Given the description of an element on the screen output the (x, y) to click on. 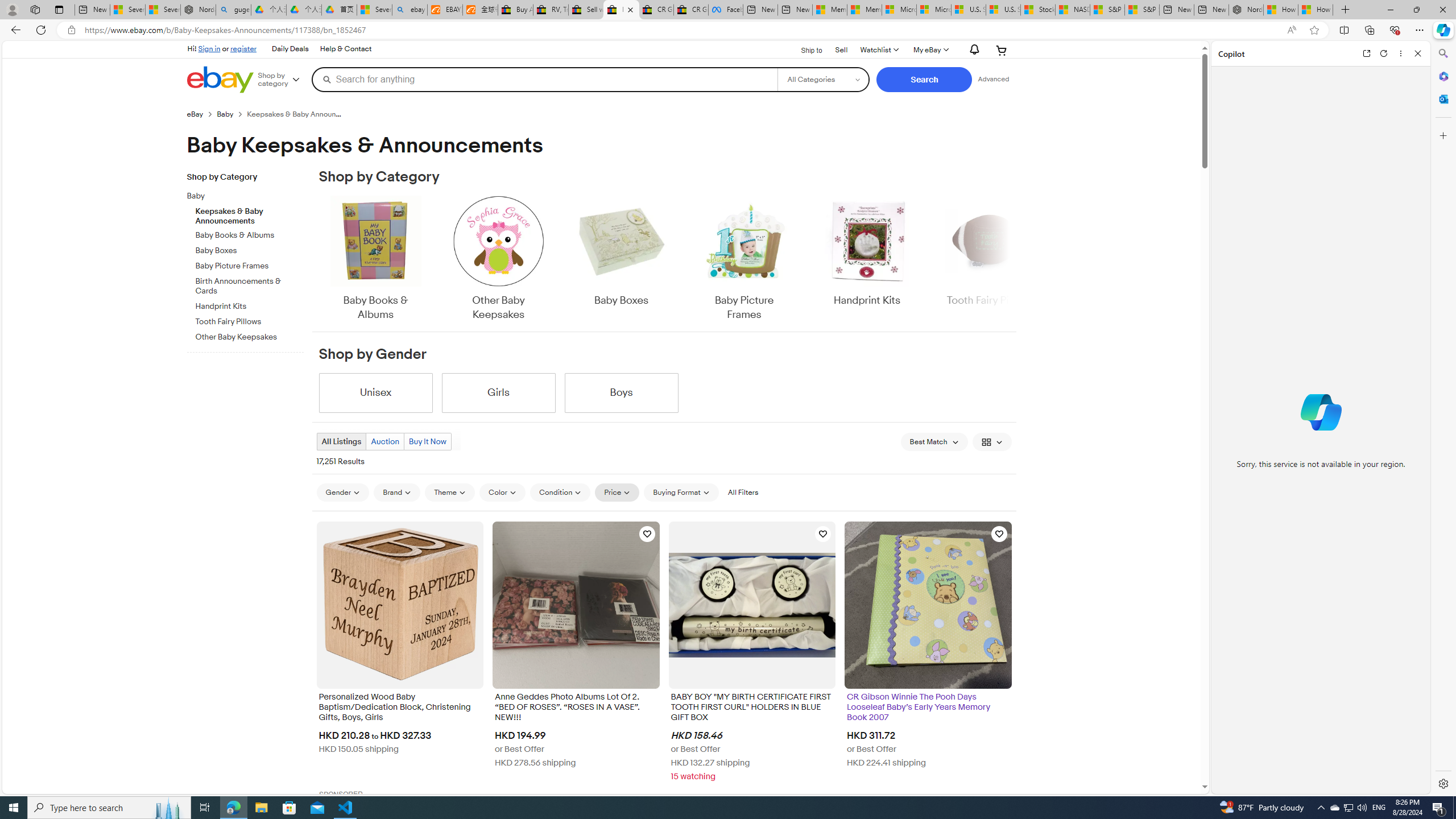
Sell worldwide with eBay (585, 9)
Girls (498, 392)
Theme (450, 492)
Shop by category (282, 79)
register (243, 48)
Open link in new tab (1366, 53)
Price (617, 492)
eBay (194, 113)
Go to next slide (1009, 258)
Unisex (375, 392)
Facebook (725, 9)
Boys (621, 392)
